Given the description of an element on the screen output the (x, y) to click on. 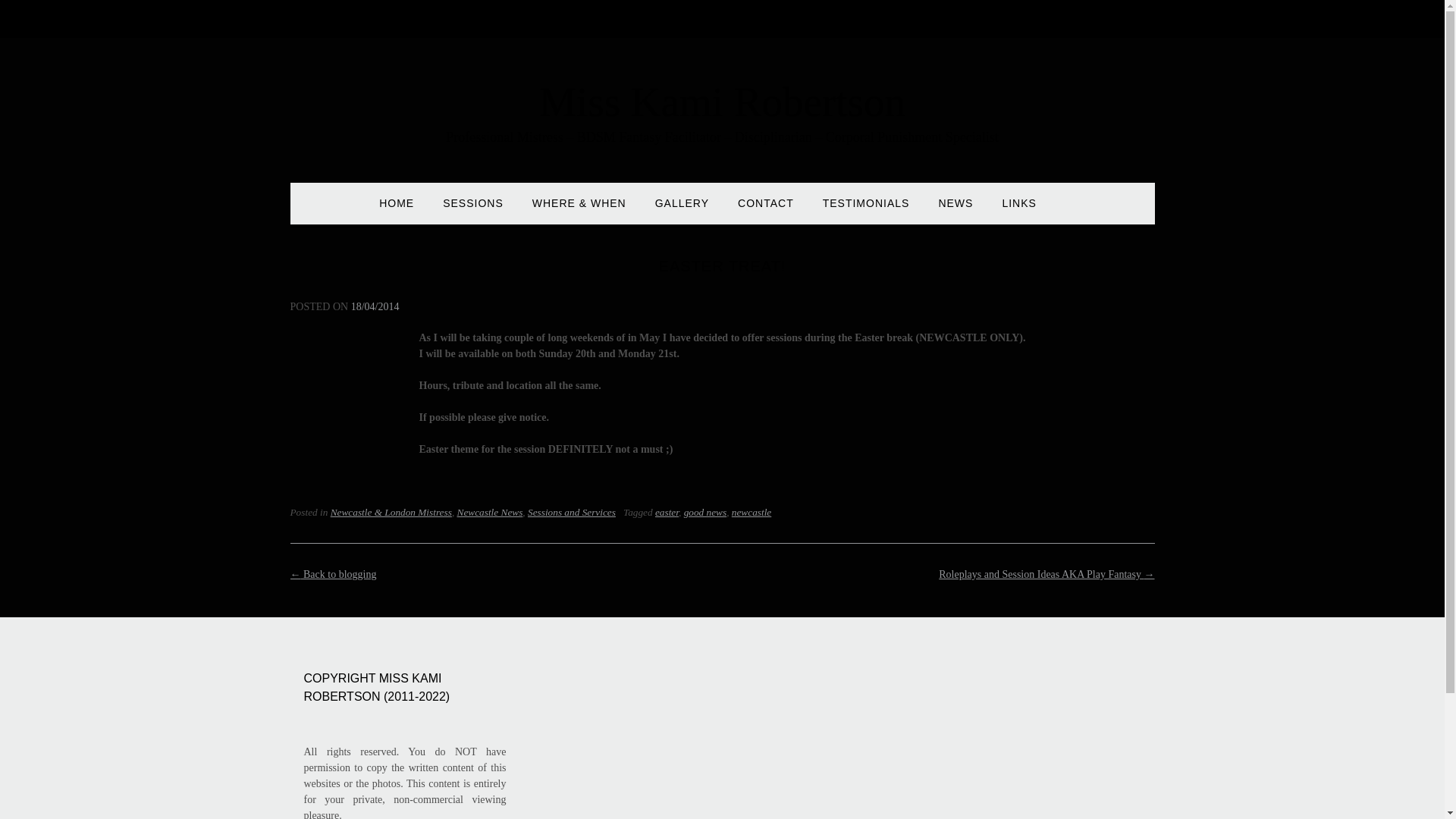
Sessions and Services (571, 511)
Miss Kami Robertson (721, 102)
SESSIONS (472, 210)
LINKS (1018, 210)
TESTIMONIALS (866, 210)
GALLERY (682, 210)
good news (705, 511)
newcastle (751, 511)
easter (666, 511)
CONTACT (765, 210)
